Given the description of an element on the screen output the (x, y) to click on. 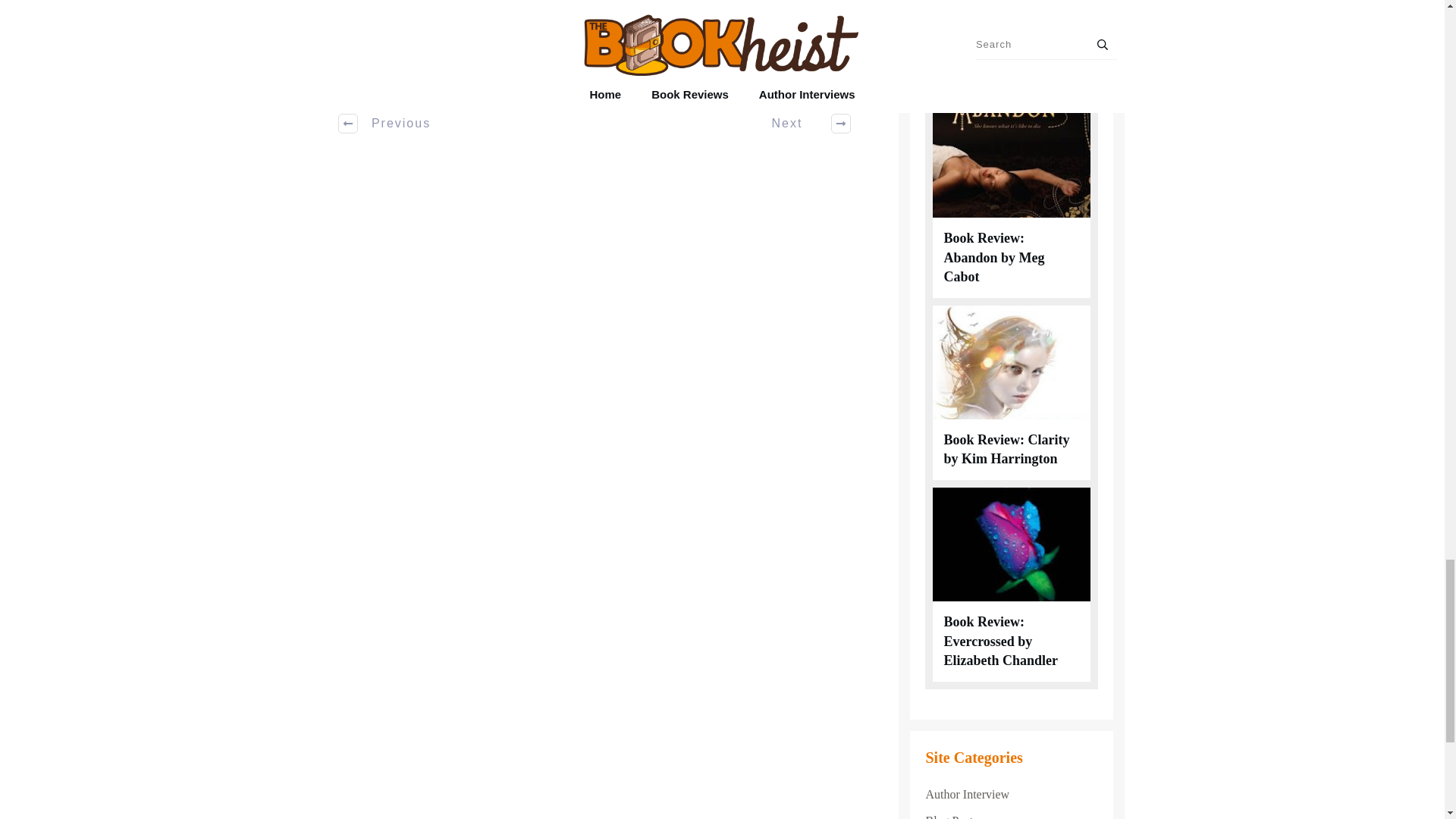
Book Review: Betrayal by Lee Nichols (1010, 65)
Book Review: Evercrossed by Elizabeth Chandler (1000, 640)
Book Review: Abandon by Meg Cabot (993, 256)
Book Review: Clarity by Kim Harrington (1005, 449)
